Given the description of an element on the screen output the (x, y) to click on. 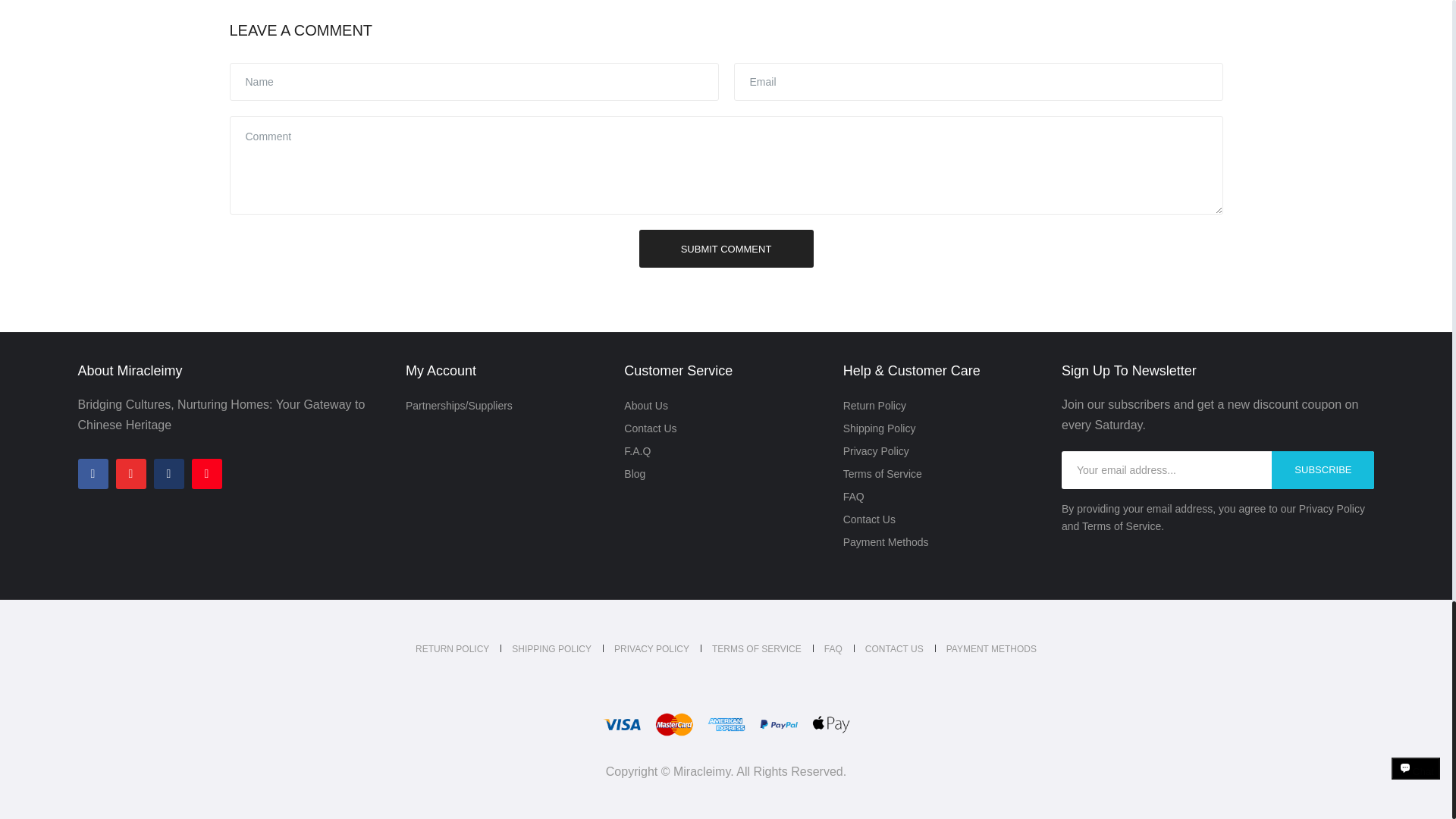
Facebook (92, 473)
